Given the description of an element on the screen output the (x, y) to click on. 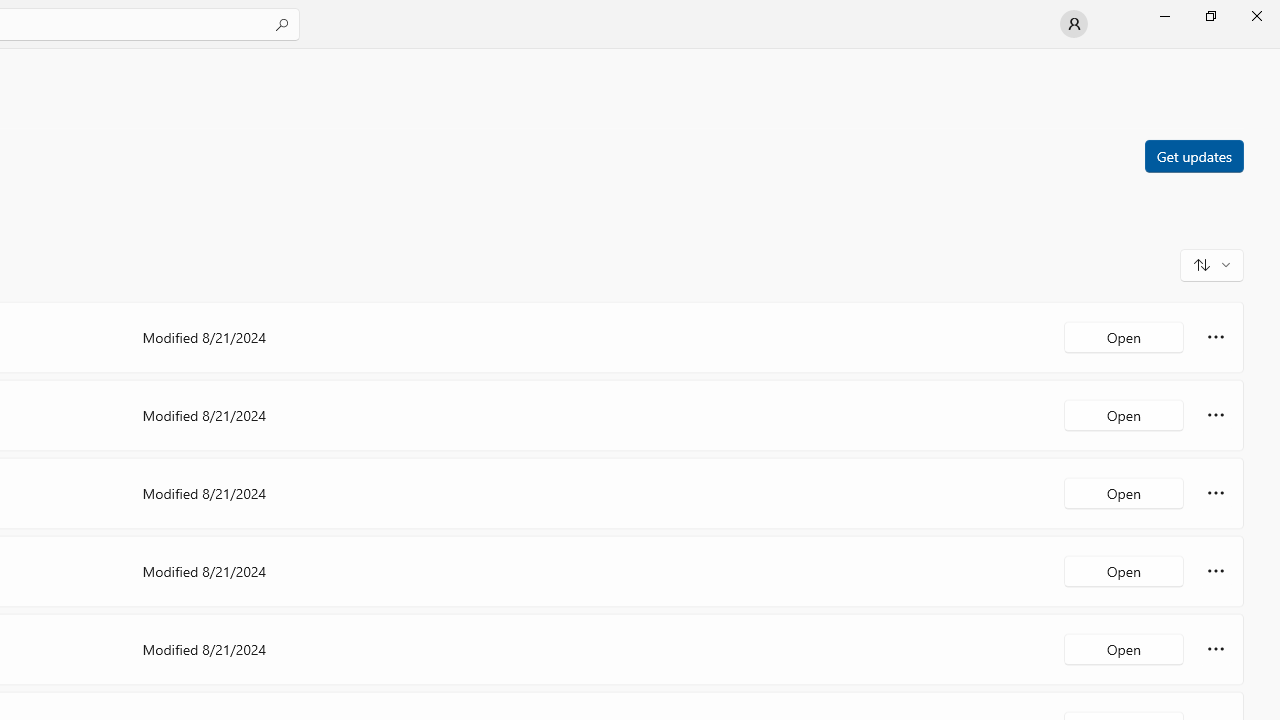
Get updates (1193, 155)
Minimize Microsoft Store (1164, 15)
Open (1123, 648)
Restore Microsoft Store (1210, 15)
User profile (1073, 24)
Sort and filter (1212, 263)
More options (1215, 648)
Close Microsoft Store (1256, 15)
